Given the description of an element on the screen output the (x, y) to click on. 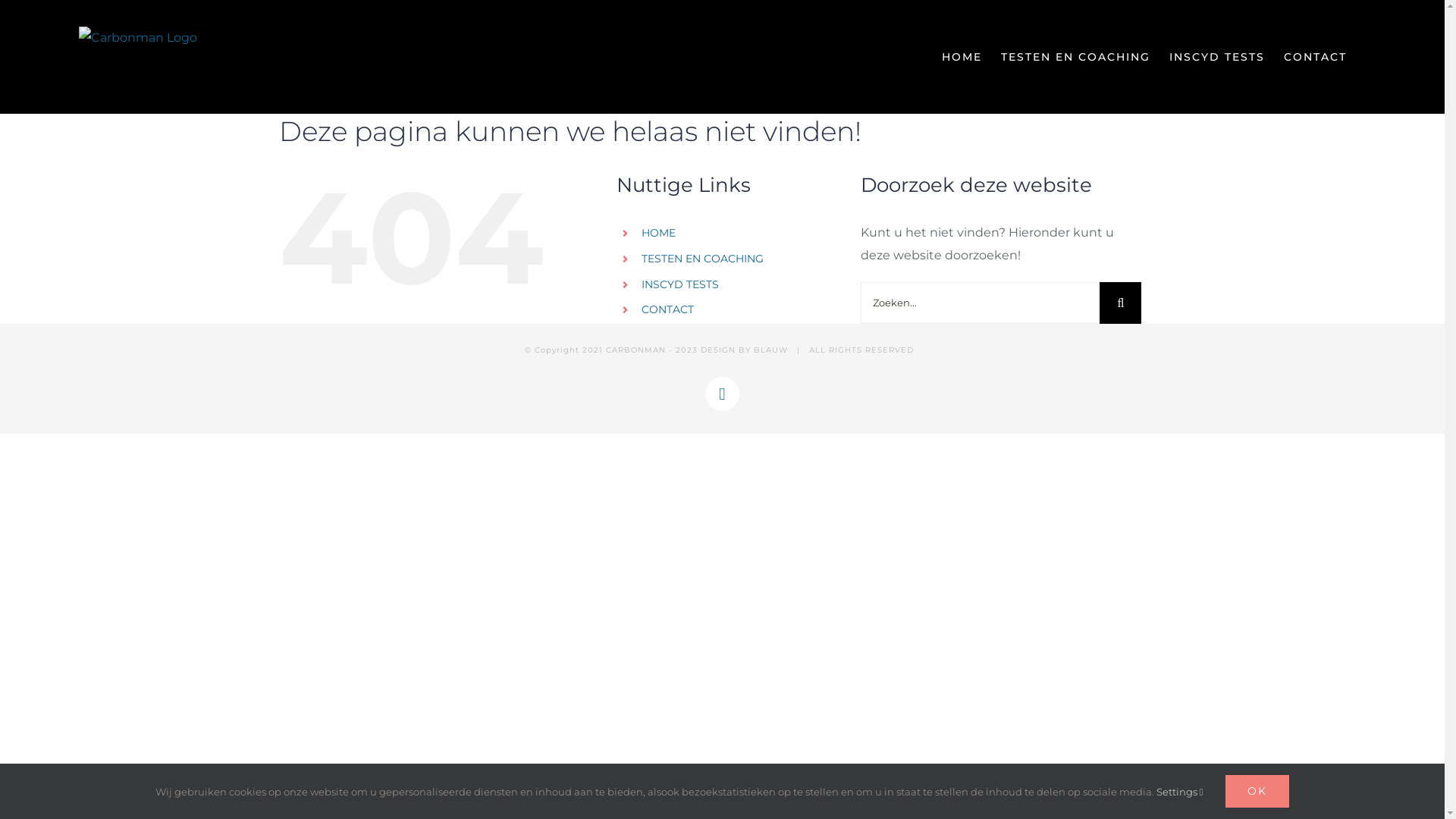
HOME Element type: text (658, 232)
TESTEN EN COACHING Element type: text (1075, 56)
Settings Element type: text (1179, 791)
CONTACT Element type: text (667, 309)
CONTACT Element type: text (1314, 56)
Facebook Element type: text (722, 393)
BLAUW Element type: text (770, 349)
INSCYD TESTS Element type: text (679, 284)
OK Element type: text (1257, 791)
INSCYD TESTS Element type: text (1216, 56)
HOME Element type: text (961, 56)
TESTEN EN COACHING Element type: text (702, 258)
